Given the description of an element on the screen output the (x, y) to click on. 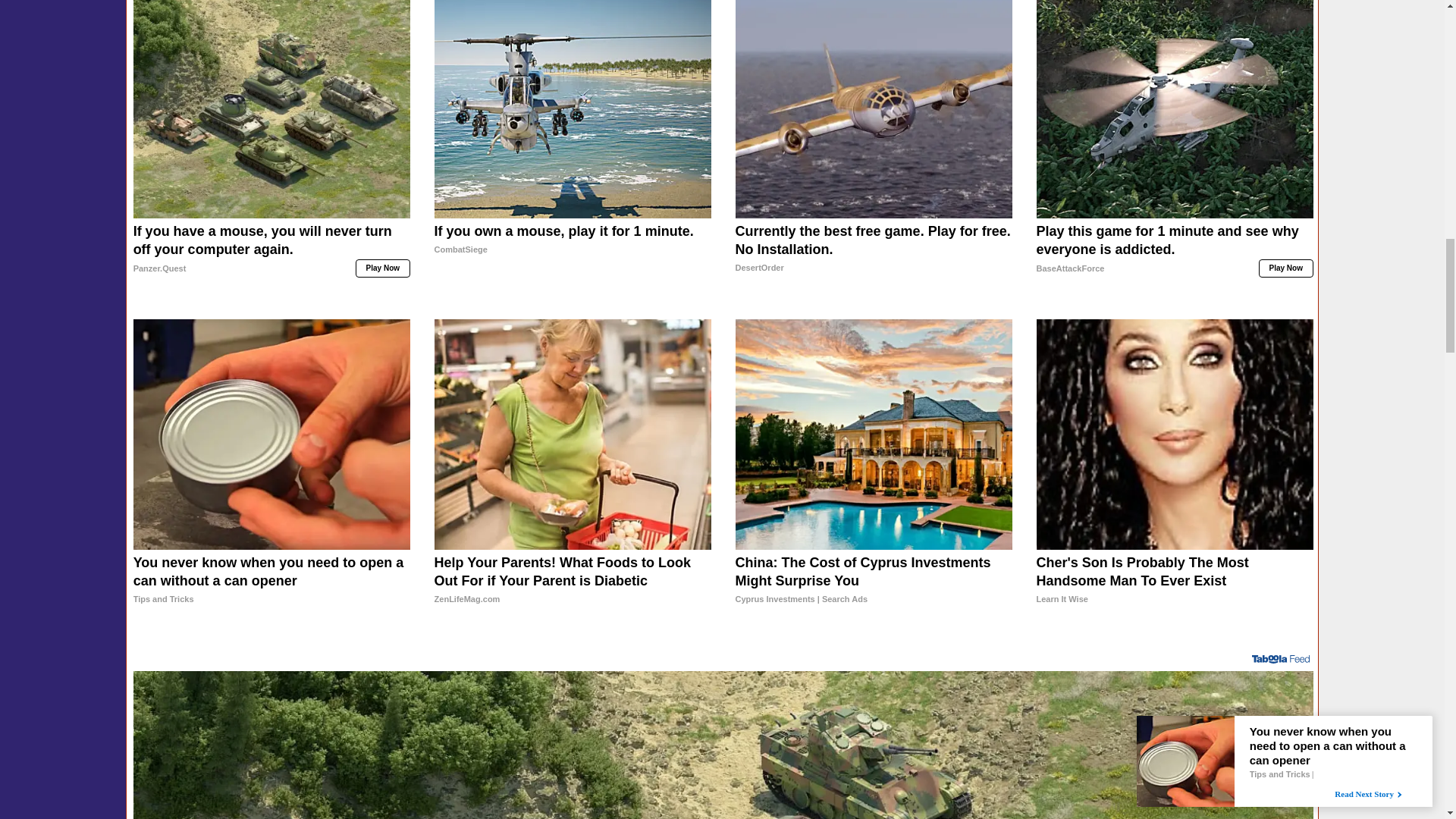
If you own a mouse, play it for 1 minute. (572, 109)
If you own a mouse, play it for 1 minute. (572, 257)
